Given the description of an element on the screen output the (x, y) to click on. 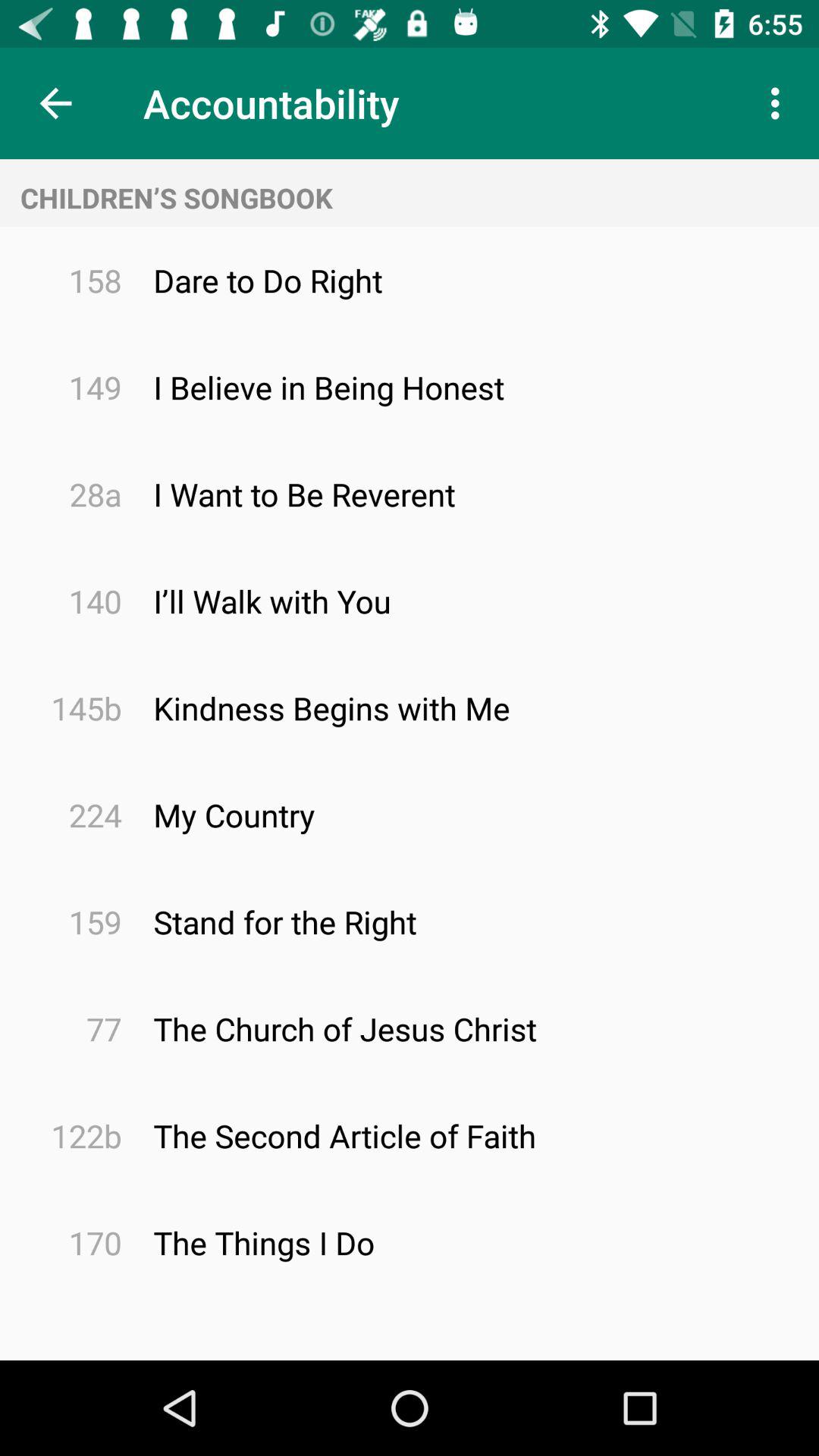
press the item at the top right corner (779, 103)
